Given the description of an element on the screen output the (x, y) to click on. 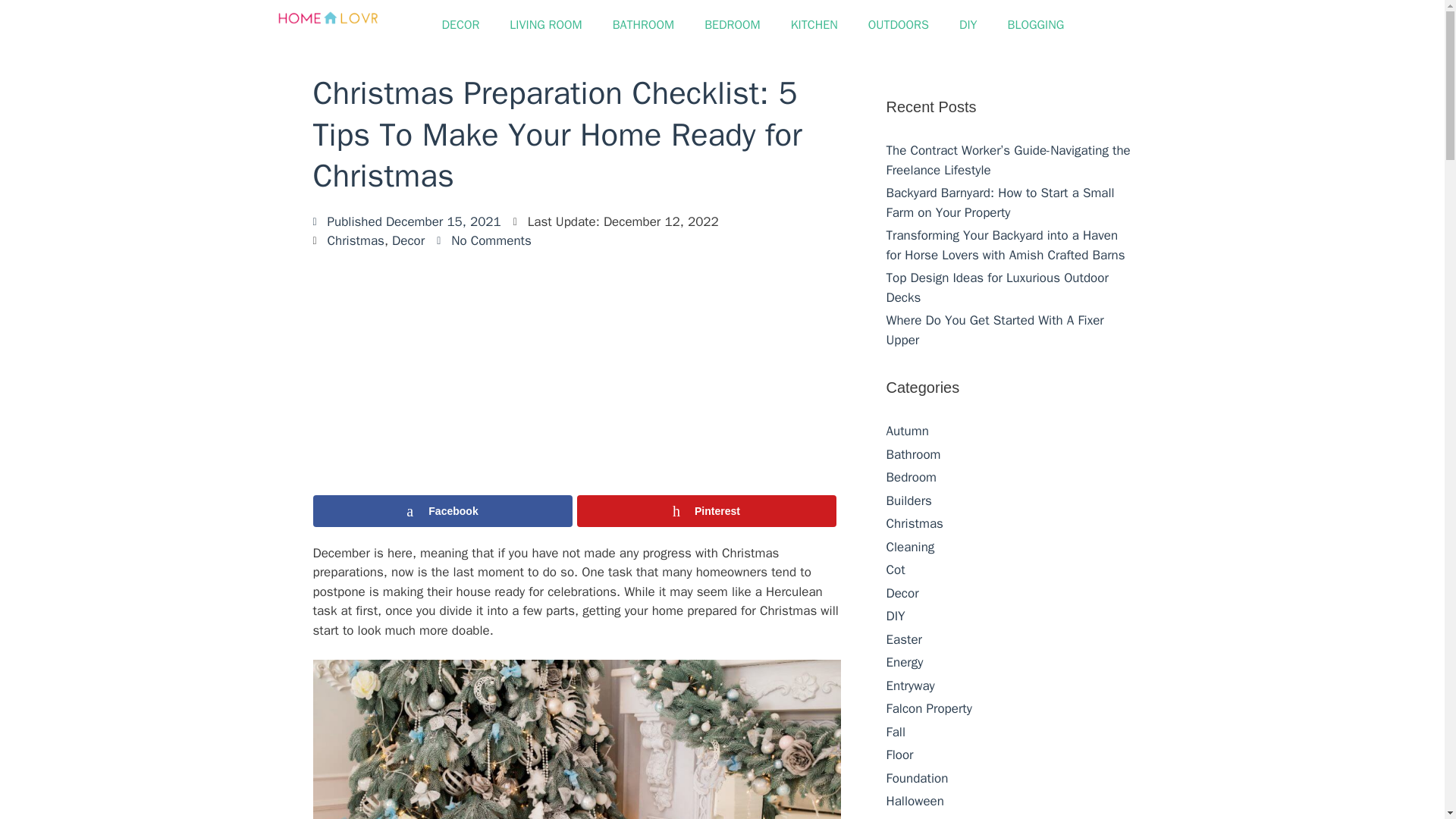
Decor (408, 240)
Published December 15, 2021 (406, 221)
Advertisement (576, 372)
No Comments (483, 240)
Pinterest (705, 511)
DECOR (460, 24)
BEDROOM (732, 24)
BLOGGING (1036, 24)
KITCHEN (814, 24)
OUTDOORS (898, 24)
Christmas (355, 240)
DIY (967, 24)
LIVING ROOM (545, 24)
BATHROOM (643, 24)
Facebook (442, 511)
